Given the description of an element on the screen output the (x, y) to click on. 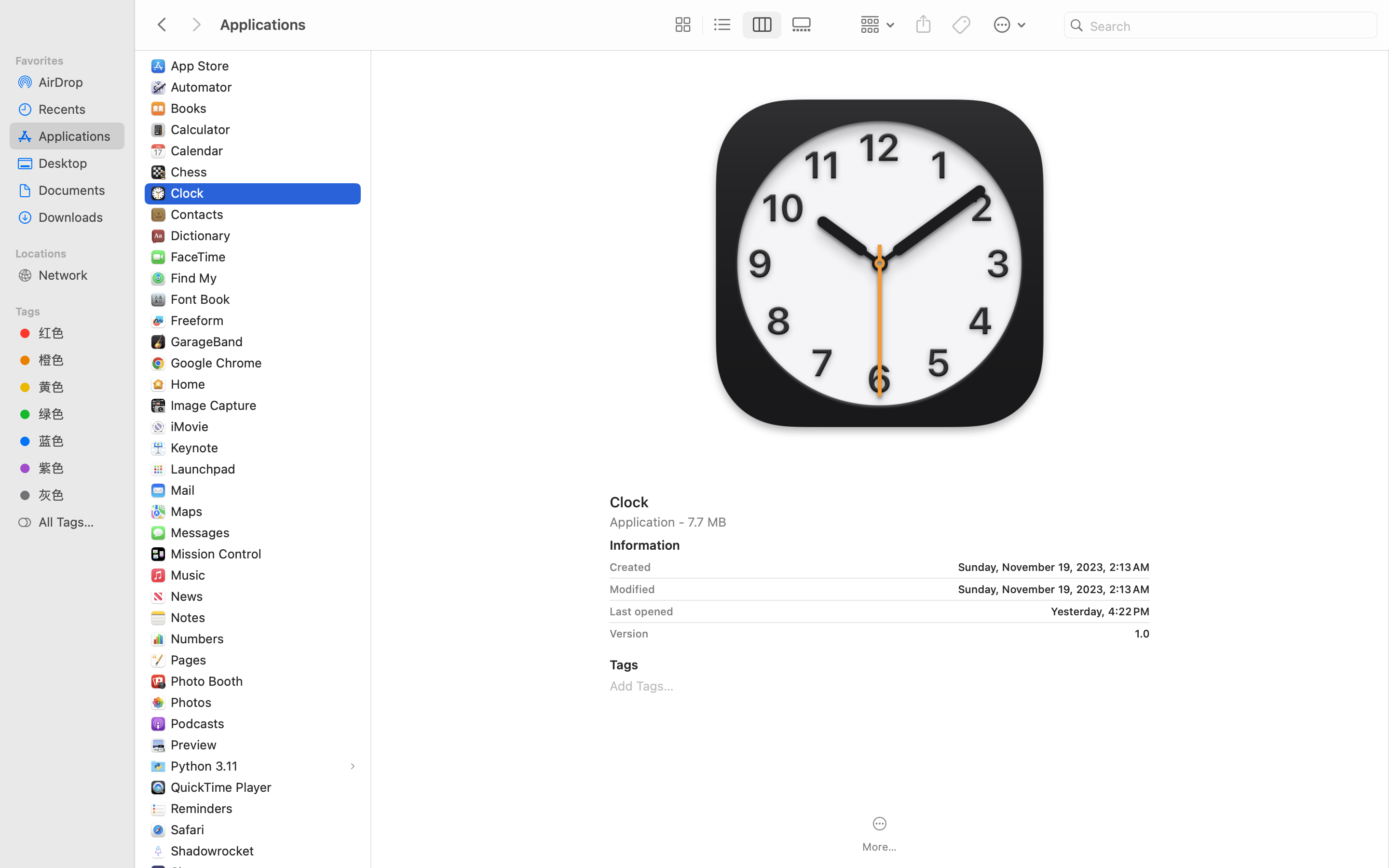
iMovie Element type: AXTextField (191, 426)
1 Element type: AXRadioButton (762, 24)
AirDrop Element type: AXStaticText (77, 81)
Sunday, November 19, 2023, 2:13 AM Element type: AXStaticText (903, 566)
News Element type: AXTextField (188, 595)
